Given the description of an element on the screen output the (x, y) to click on. 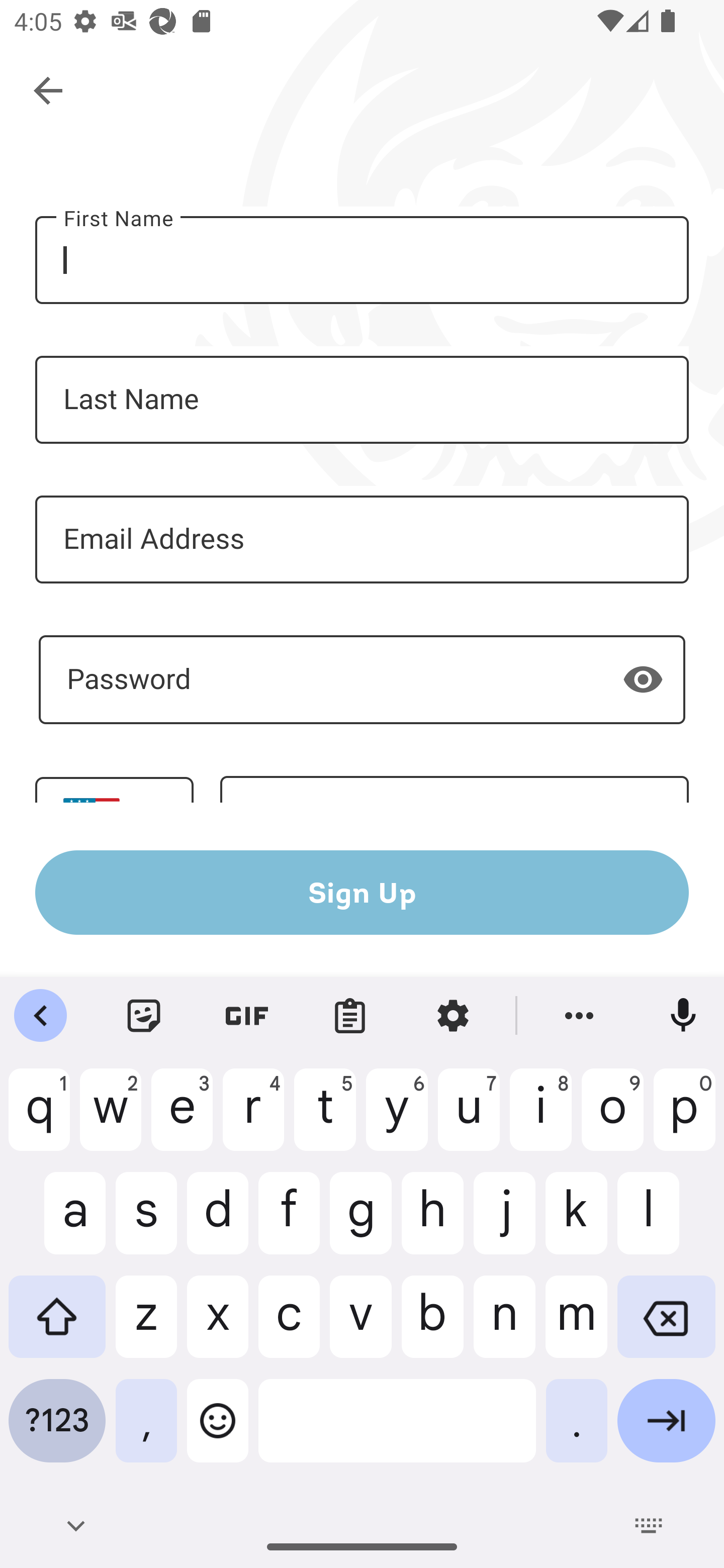
Navigate up (49, 91)
First Name - Required (361, 260)
Last Name - Required (361, 399)
Email Address - Required (361, 539)
- Required (361, 679)
Show password (642, 678)
Sign Up (361, 891)
